Given the description of an element on the screen output the (x, y) to click on. 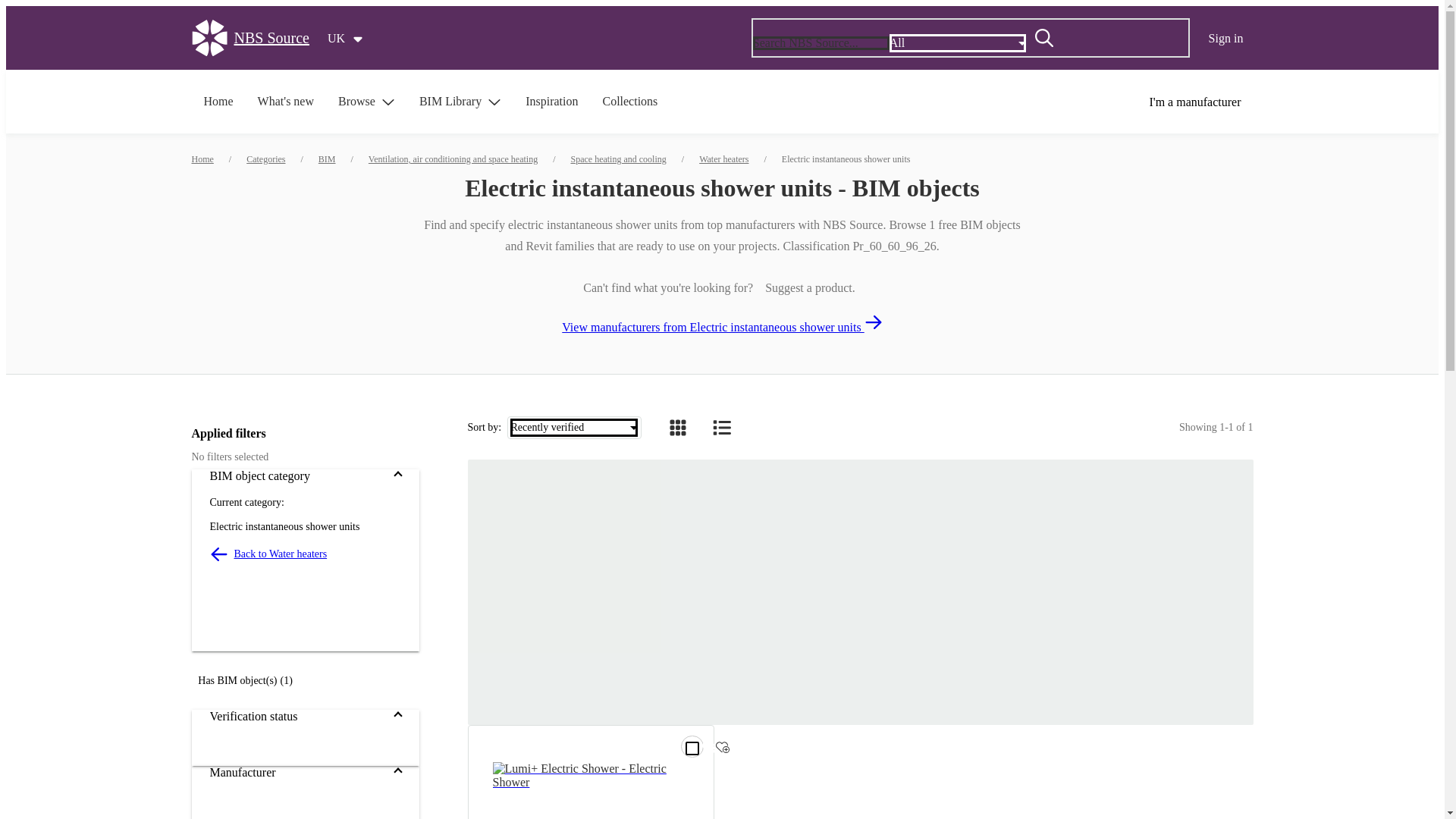
Browse (366, 101)
BIM (327, 159)
Inspiration (551, 101)
Browse inspiration (551, 101)
Collections (629, 101)
Categories (265, 159)
UK (346, 38)
Ventilation, air conditioning and space heating (452, 159)
View manufacturers from Electric instantaneous shower units (722, 323)
Back to Water heaters (304, 554)
Collections (629, 101)
I'm a manufacturer (1194, 102)
Space heating and cooling (617, 159)
BIM Library (460, 101)
Categories (265, 159)
